Given the description of an element on the screen output the (x, y) to click on. 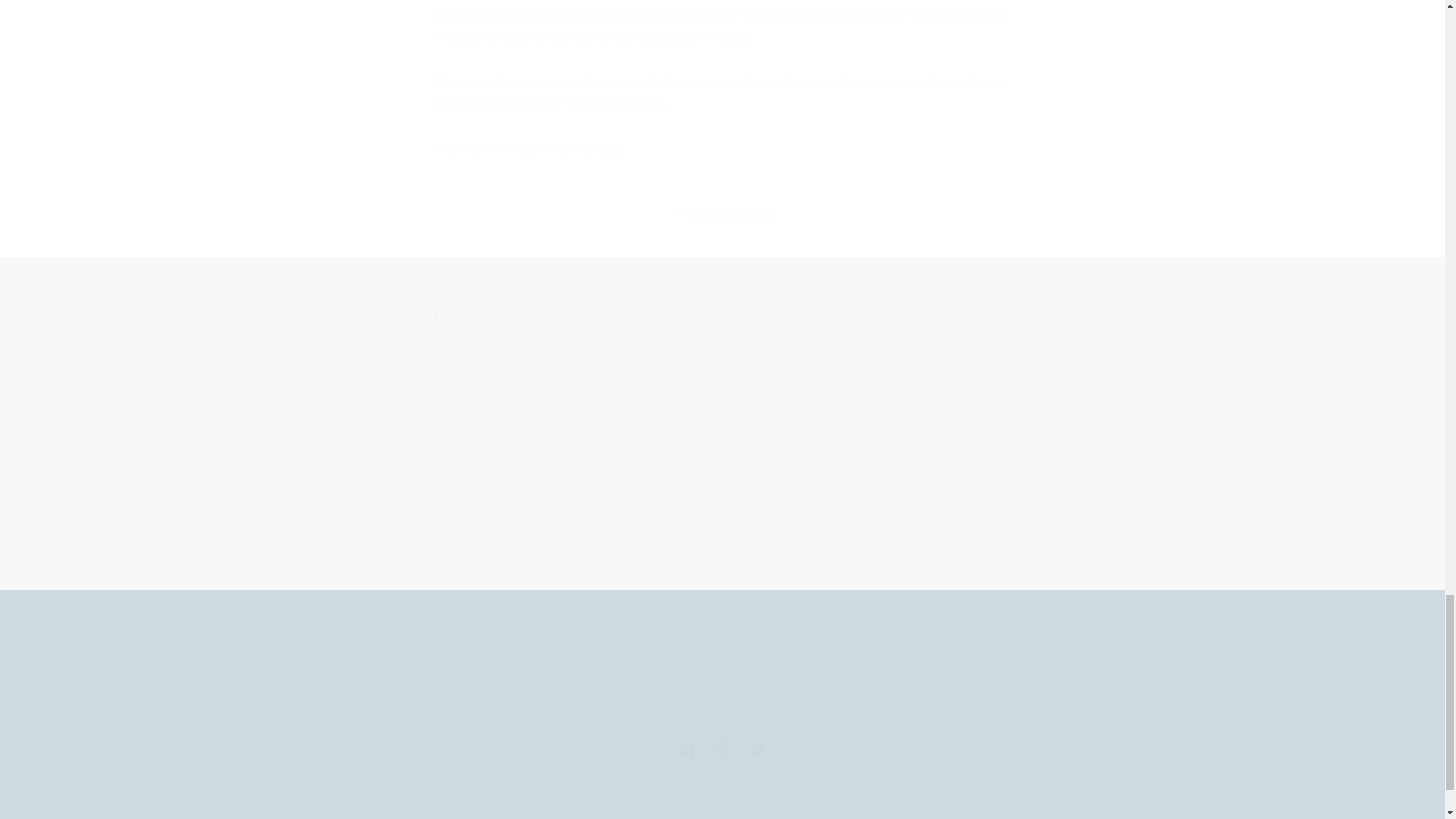
Post comment (499, 559)
